Given the description of an element on the screen output the (x, y) to click on. 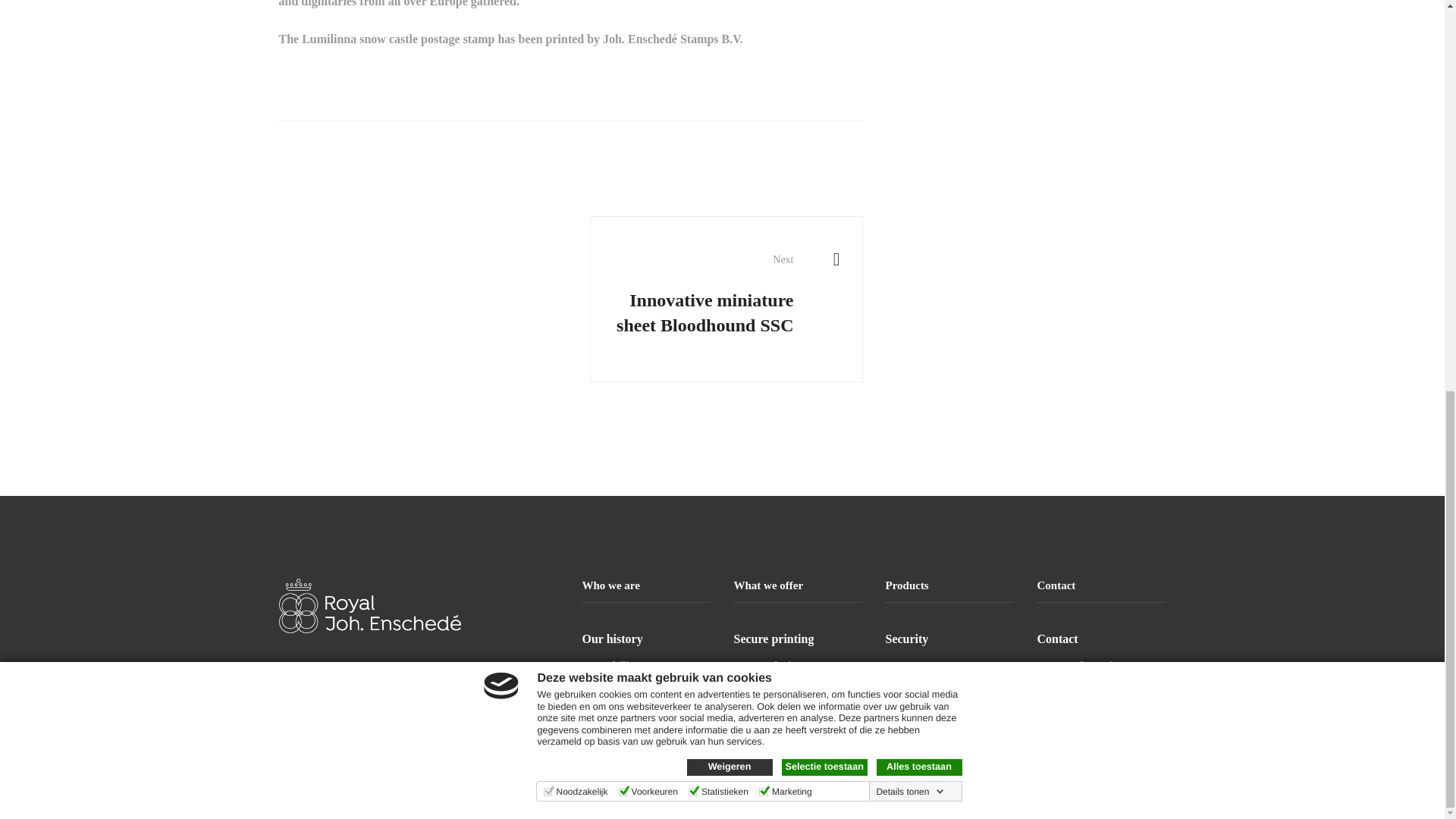
Selectie toestaan (823, 19)
Alles toestaan (919, 19)
Weigeren (730, 19)
Details tonen (909, 43)
